Given the description of an element on the screen output the (x, y) to click on. 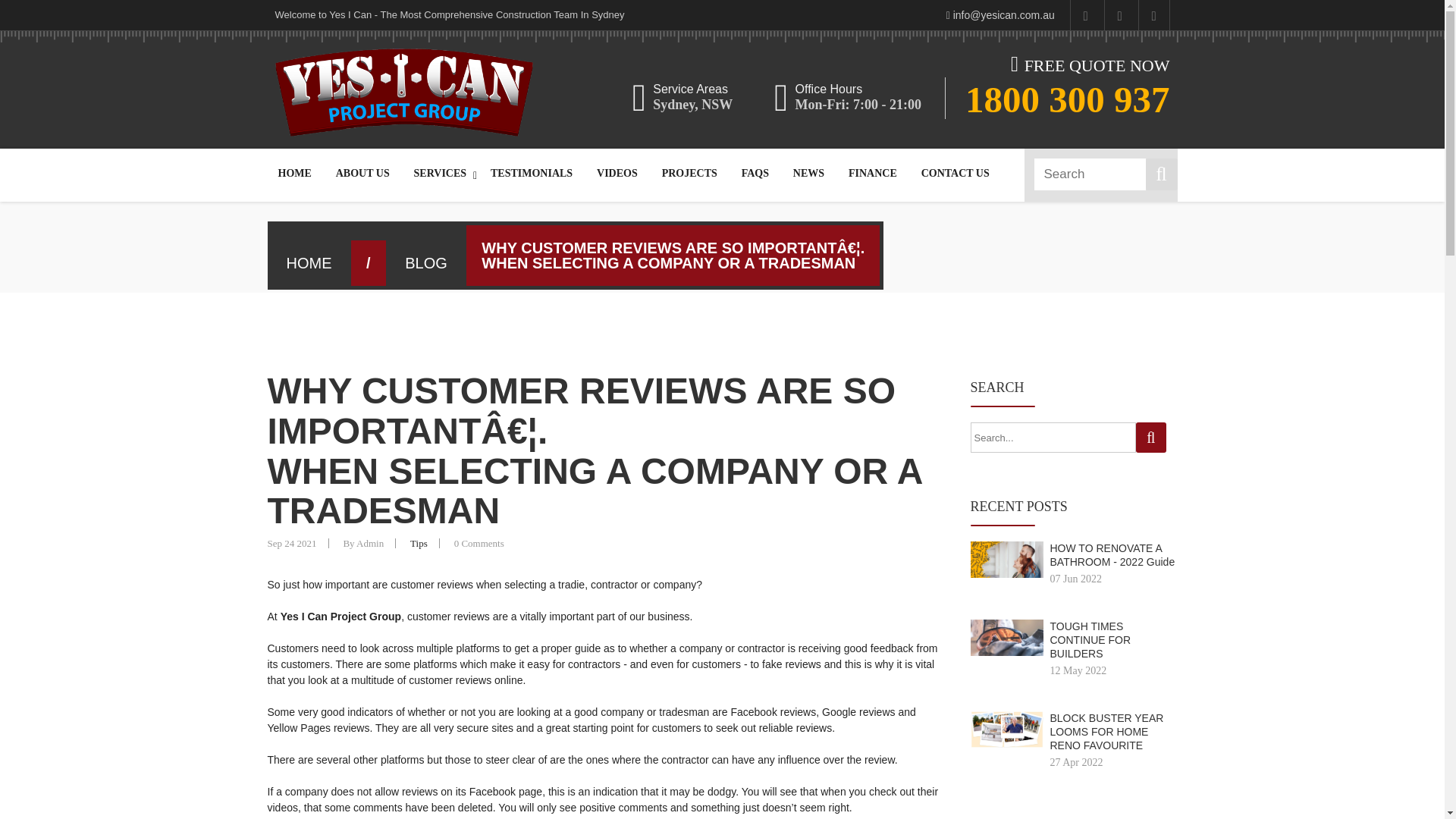
Tough times for builders (1007, 637)
FINANCE (872, 173)
1800 300 937 (1067, 99)
VIDEOS (616, 173)
BLOG (427, 263)
TESTIMONIALS (531, 173)
HOME (311, 263)
Tips (419, 542)
NEWS (808, 173)
SERVICES (440, 173)
ABOUT US (362, 173)
HOME (293, 173)
Apply for home renovation show australia 2022 (1007, 729)
FAQS (754, 173)
CONTACT US (955, 173)
